Given the description of an element on the screen output the (x, y) to click on. 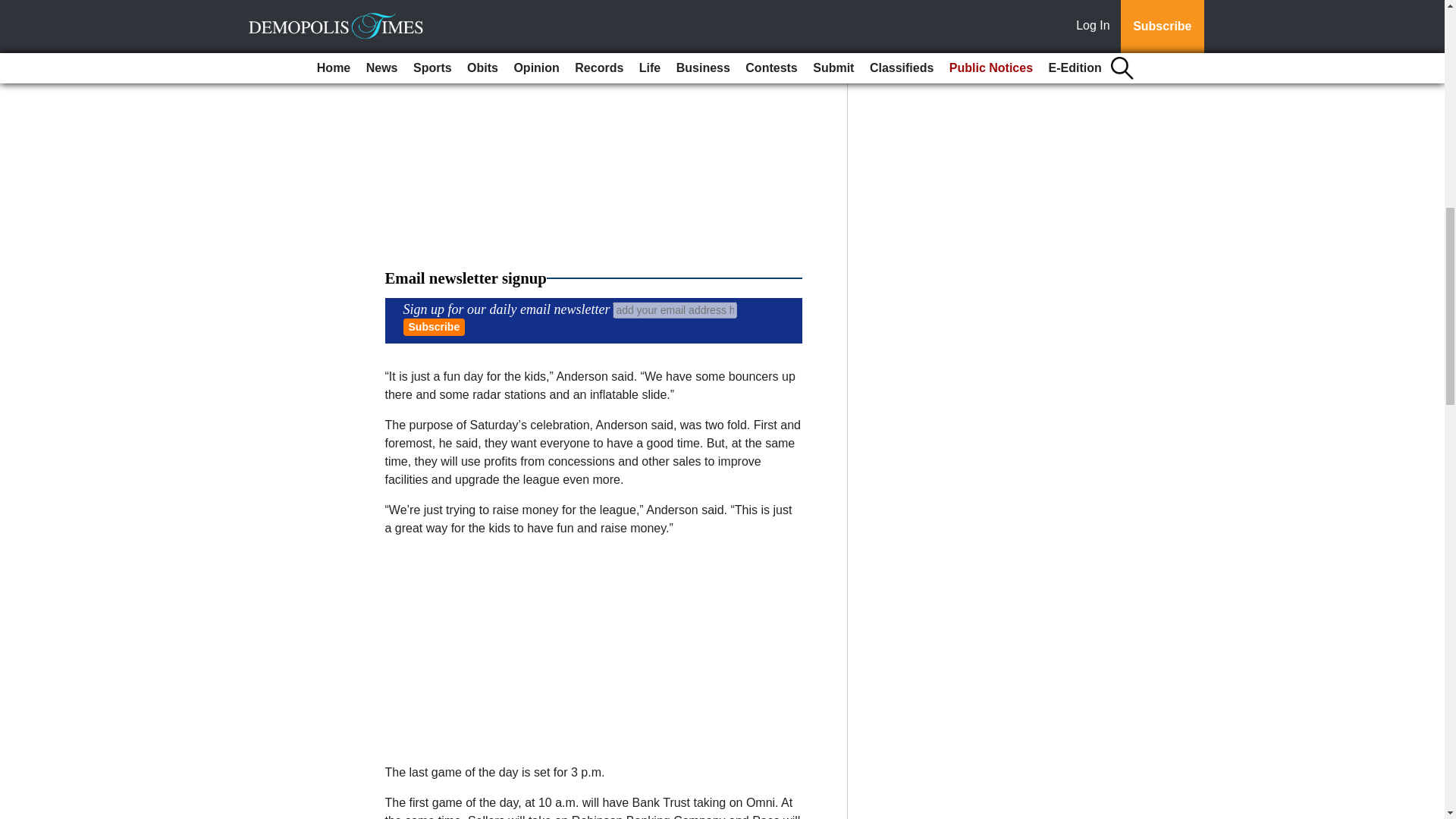
Subscribe (434, 326)
Subscribe (434, 326)
